Given the description of an element on the screen output the (x, y) to click on. 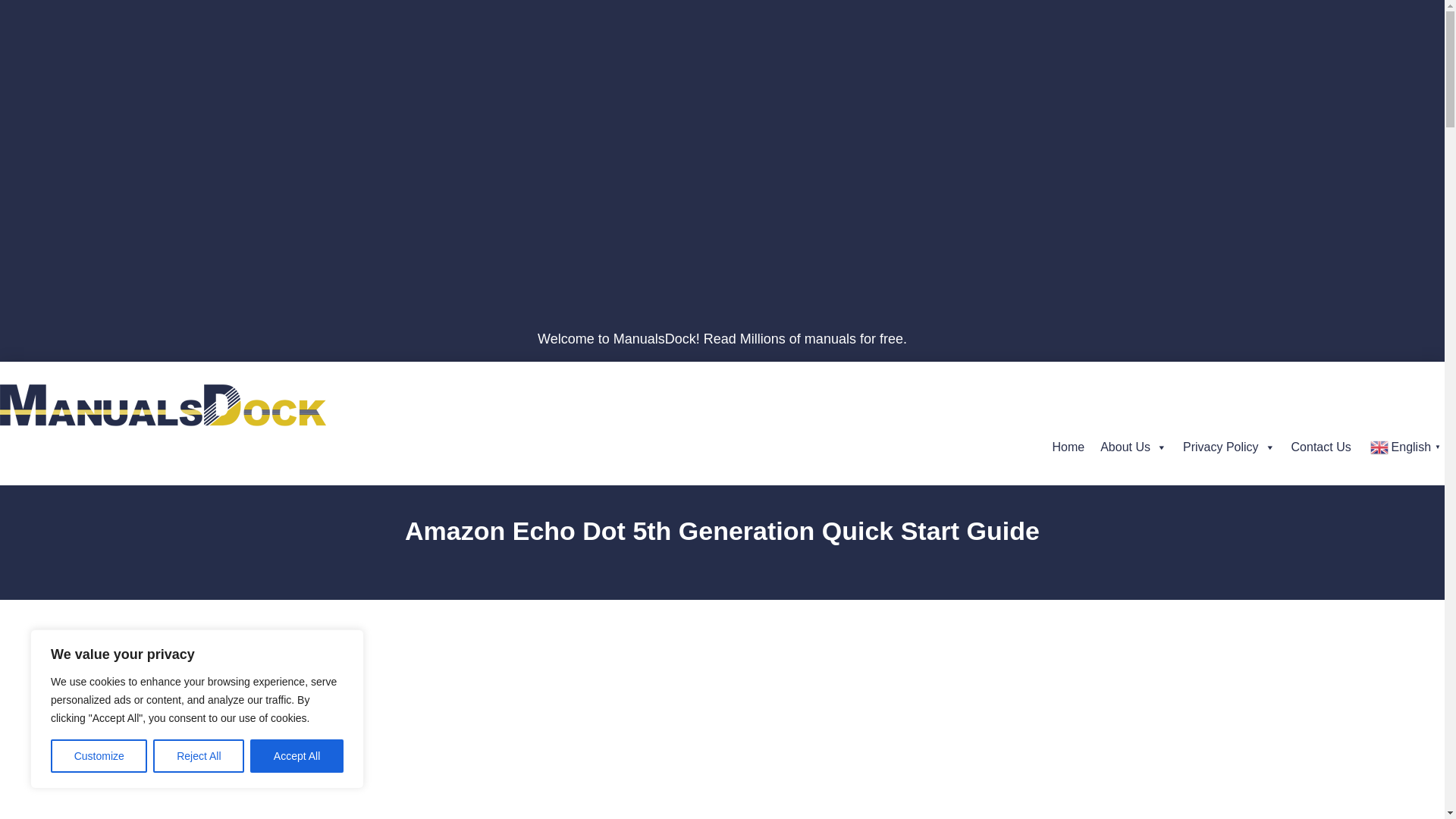
Accept All (296, 756)
About Us (1133, 447)
Reject All (198, 756)
Customize (98, 756)
Advertisement (469, 747)
Privacy Policy (1228, 447)
Home (1067, 447)
Contact Us (1321, 447)
